Given the description of an element on the screen output the (x, y) to click on. 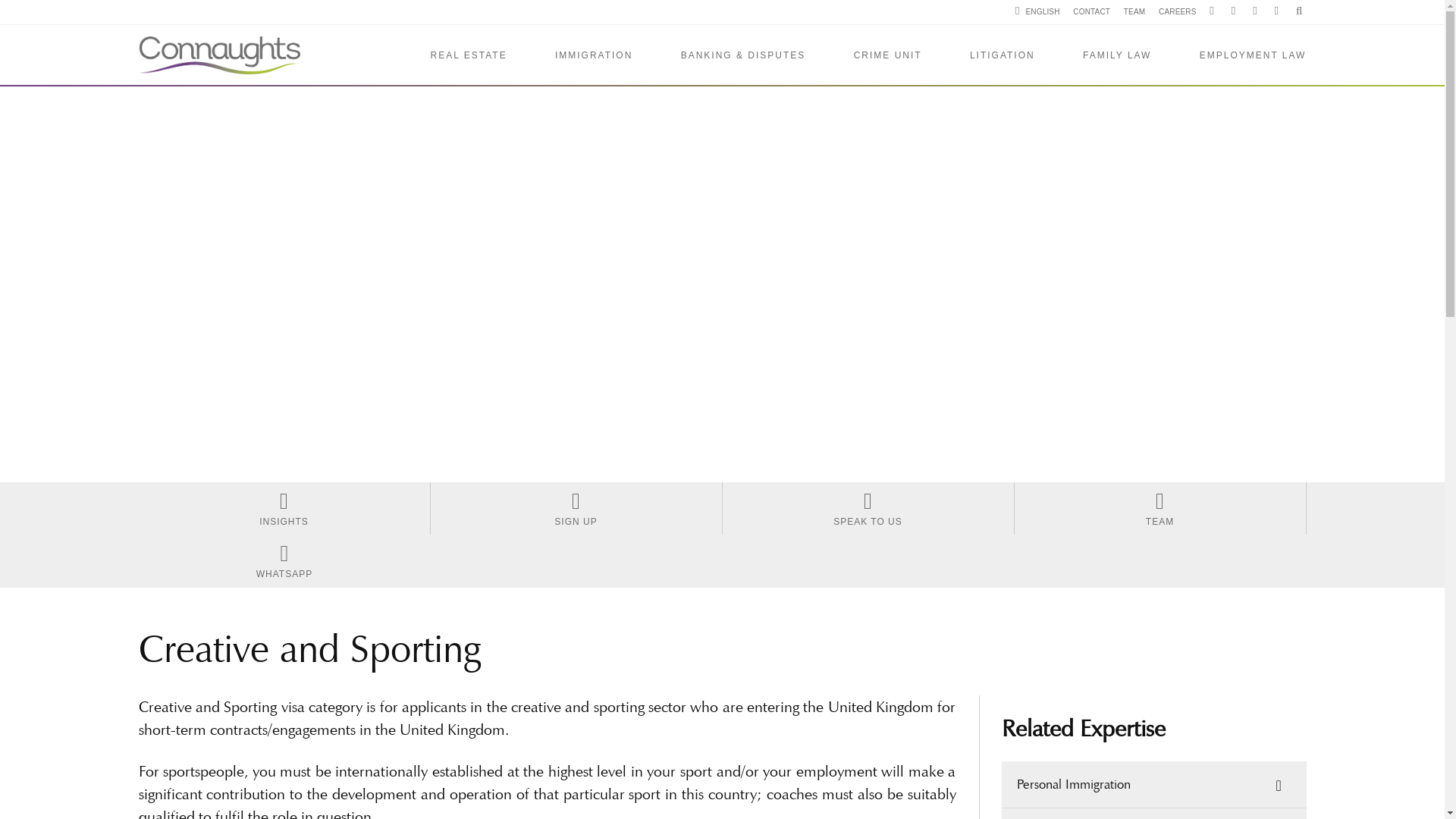
REAL ESTATE (468, 55)
IMMIGRATION (592, 55)
Connaught Law (218, 54)
TEAM (1134, 11)
CAREERS (1176, 11)
ENGLISH (1036, 11)
CONTACT (1091, 11)
